Given the description of an element on the screen output the (x, y) to click on. 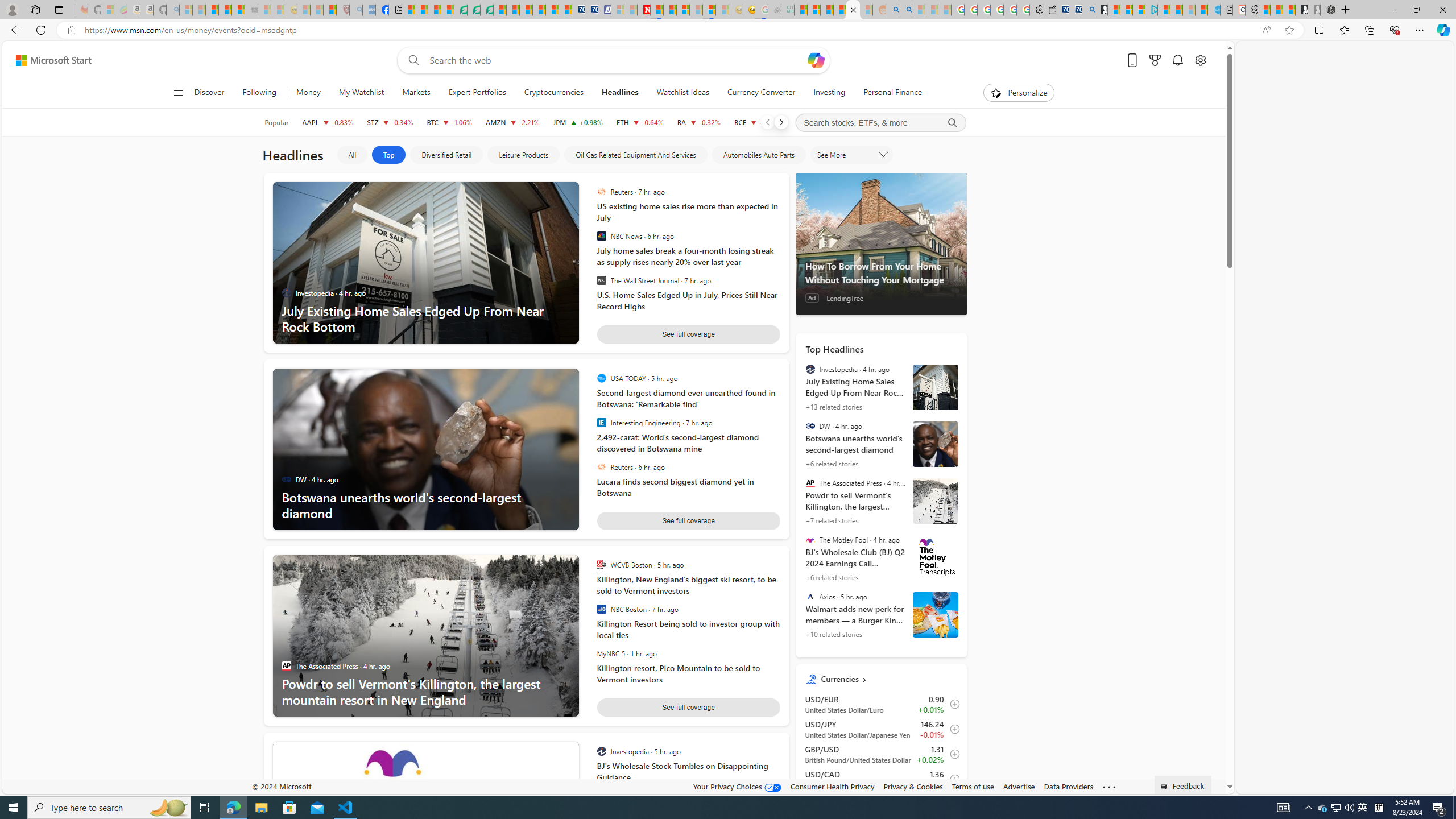
Oil Gas Related Equipment And Services (635, 154)
Class: oneFooter_seeMore-DS-EntryPoint1-1 (1108, 786)
Markets (416, 92)
Microsoft-Report a Concern to Bing - Sleeping (107, 9)
The Associated Press (810, 483)
New Report Confirms 2023 Was Record Hot | Watch (237, 9)
Personal Finance (888, 92)
NBC News 6 hr. ago (685, 235)
Top (388, 154)
Leisure Products (523, 154)
Student Loan Update: Forgiveness Program Ends This Month (839, 9)
Discover (208, 92)
